Given the description of an element on the screen output the (x, y) to click on. 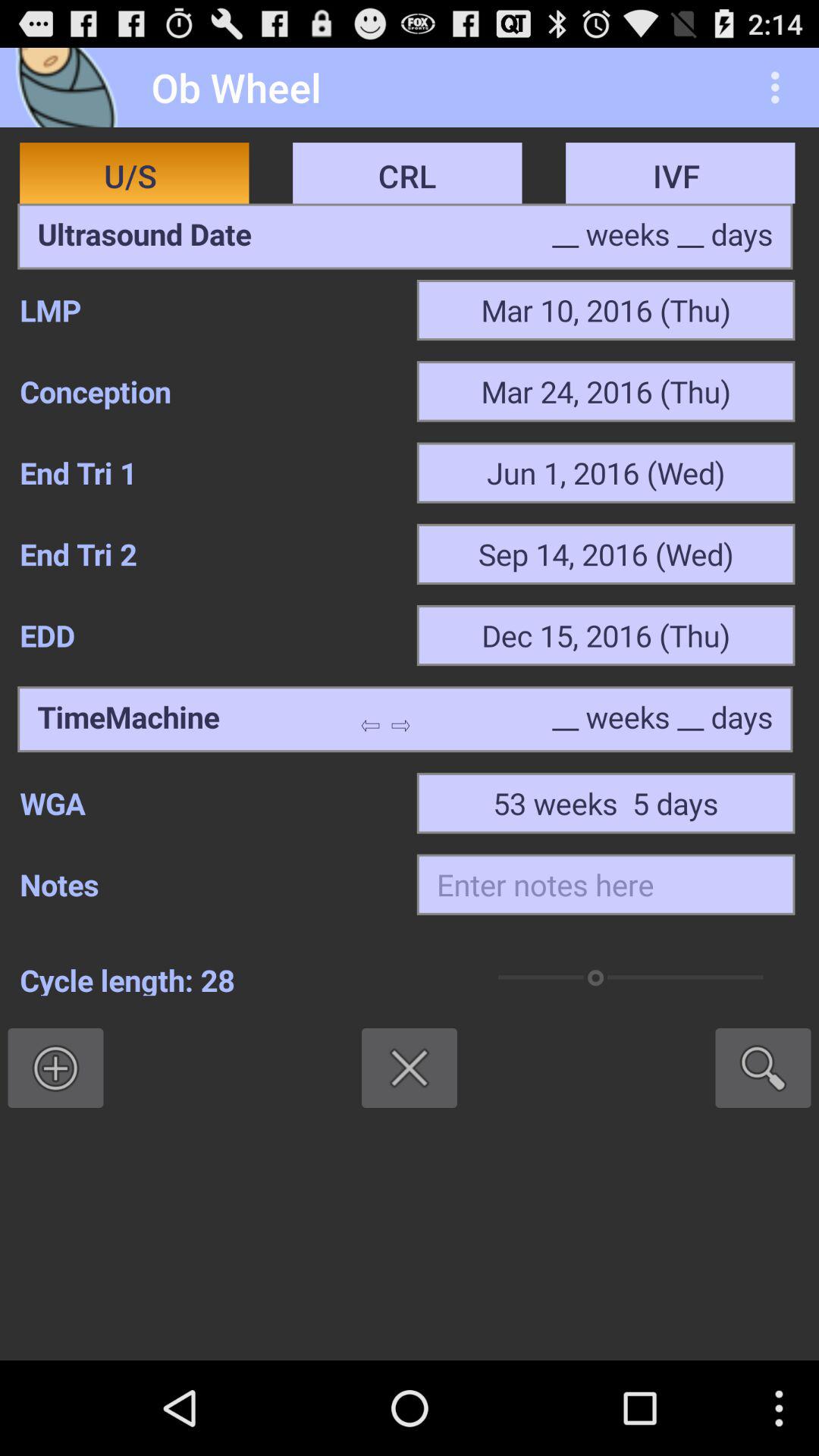
enter notes (605, 884)
